Given the description of an element on the screen output the (x, y) to click on. 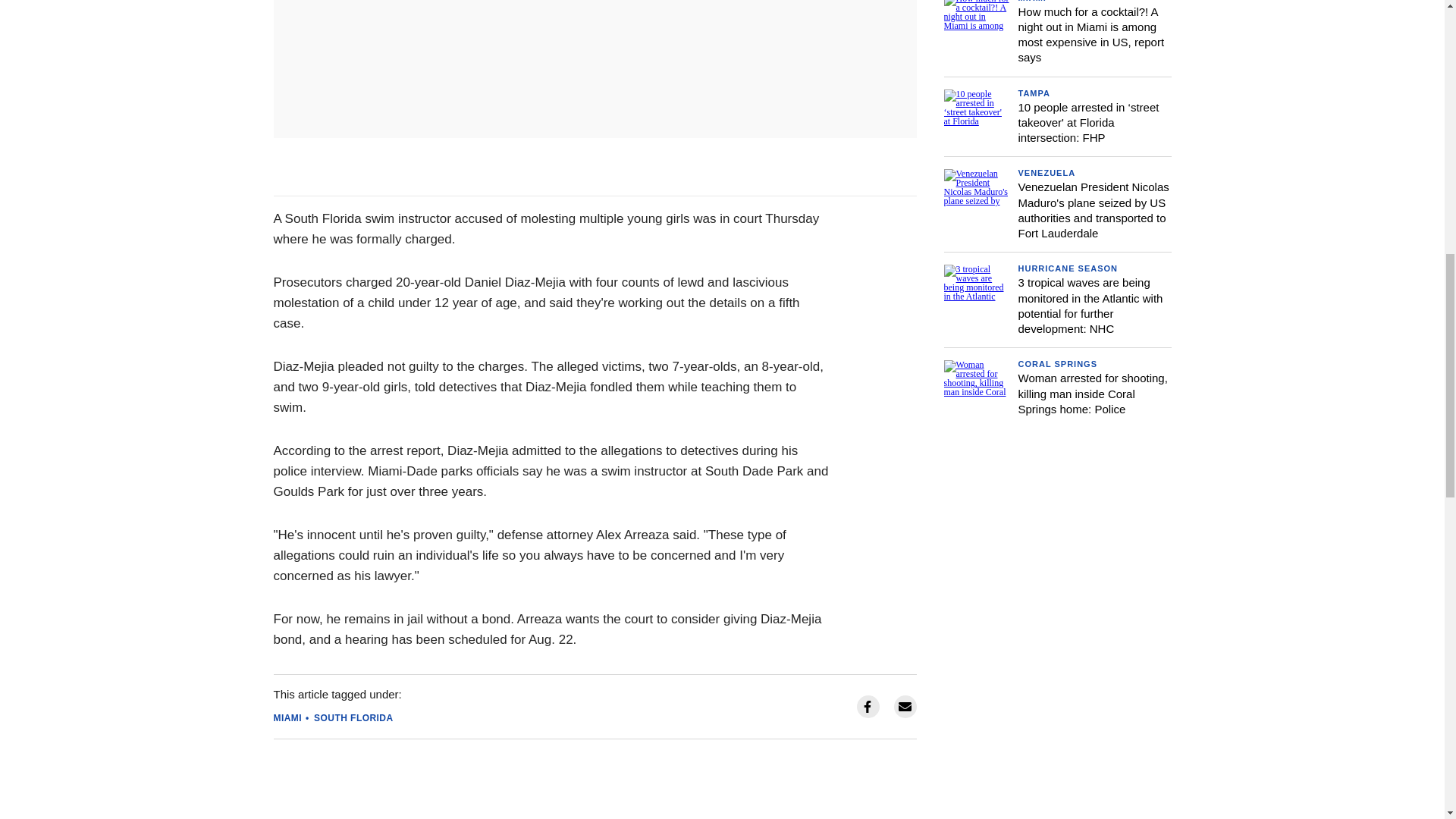
MIAMI (287, 717)
SOUTH FLORIDA (353, 717)
MIAMI (1031, 1)
VENEZUELA (1046, 172)
TAMPA (1033, 92)
